Given the description of an element on the screen output the (x, y) to click on. 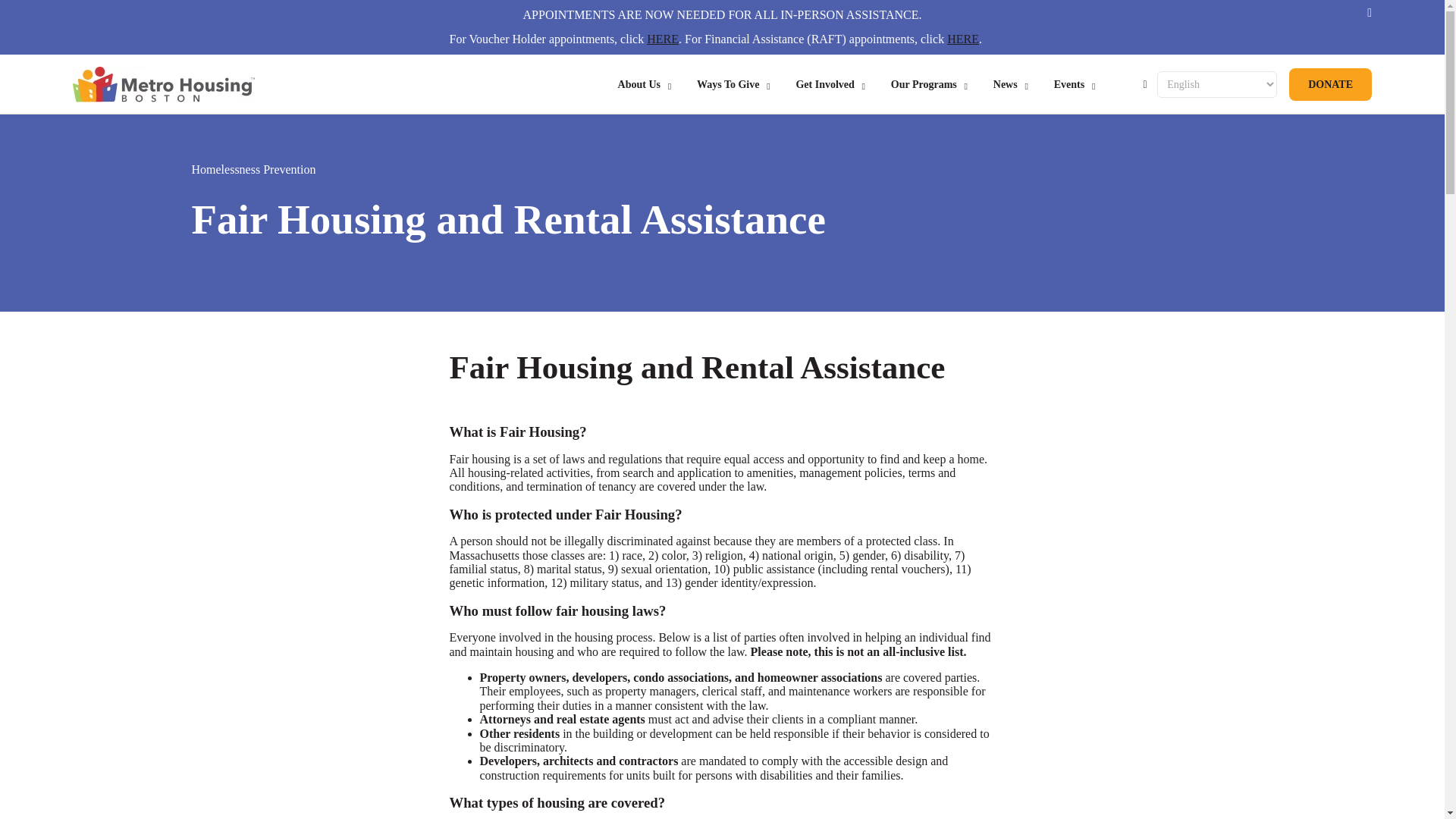
HERE (662, 38)
Ways To Give (727, 84)
Get Involved (823, 84)
About Us (639, 84)
DONATE (1329, 83)
Our Programs (923, 84)
HERE (962, 38)
